Given the description of an element on the screen output the (x, y) to click on. 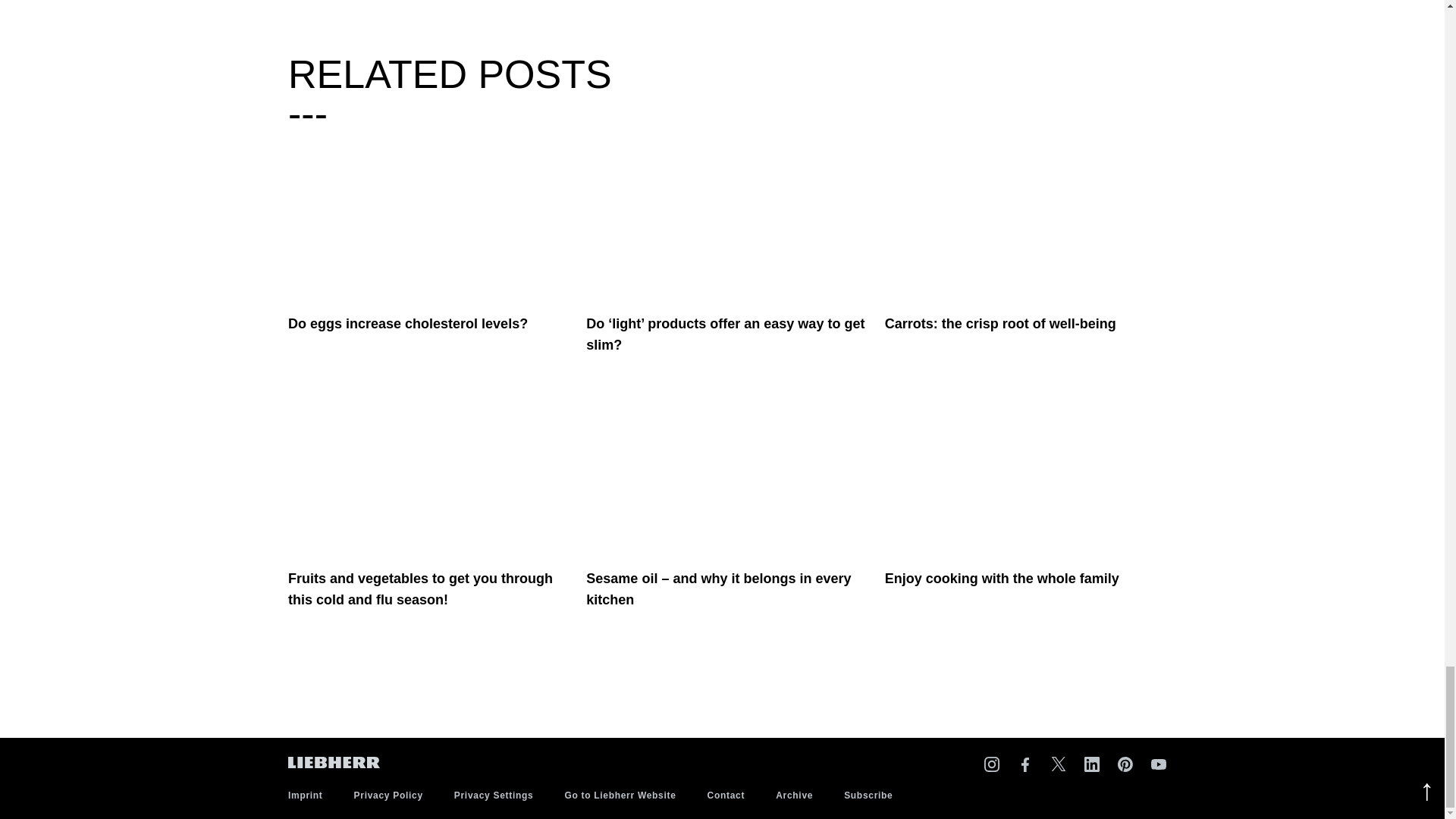
Do eggs increase cholesterol levels? (429, 222)
Carrots: the crisp root of well-being (1000, 333)
Do eggs increase cholesterol levels? (407, 333)
Carrots: the crisp root of well-being (1026, 222)
